Given the description of an element on the screen output the (x, y) to click on. 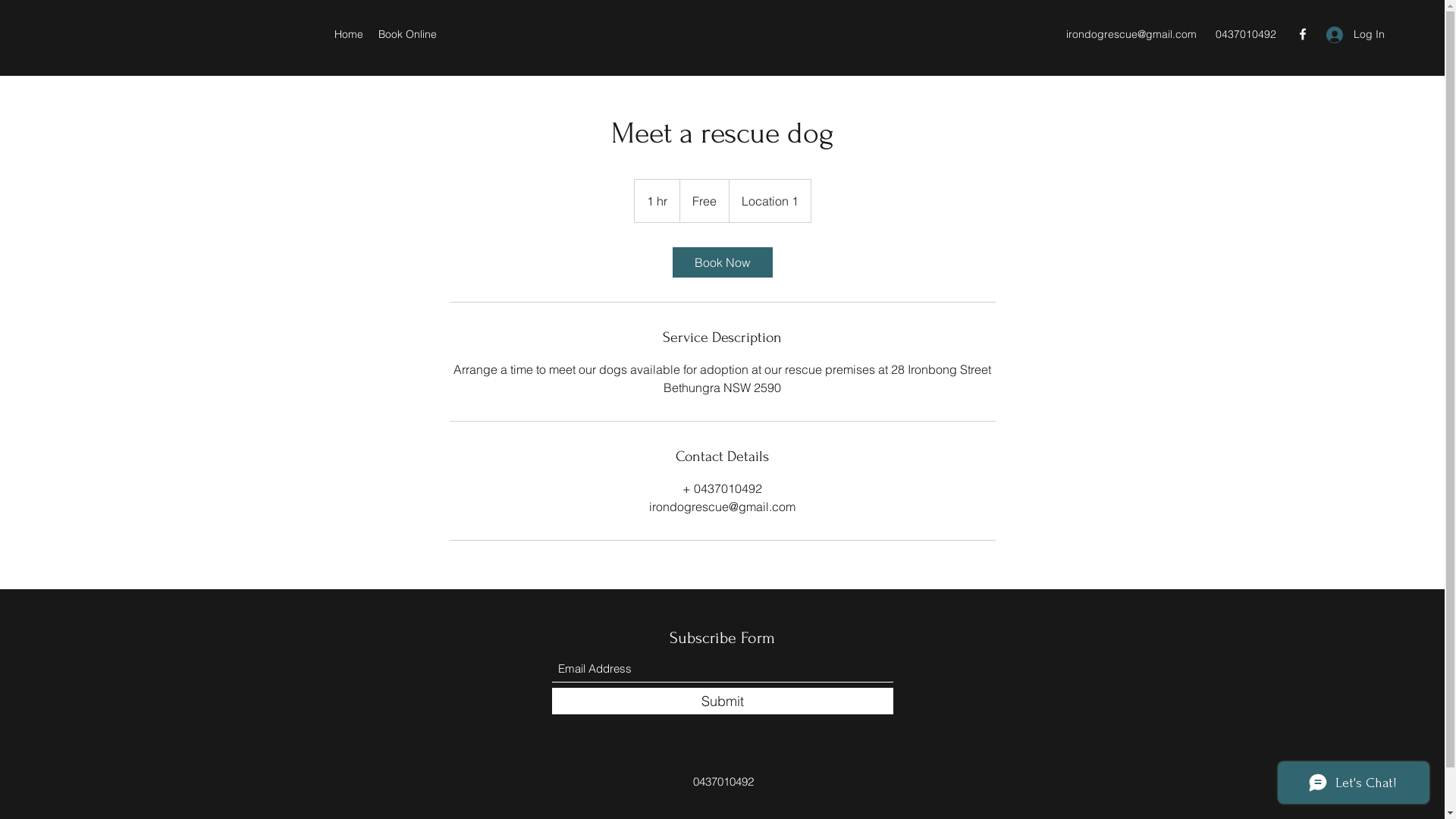
Log In Element type: text (1349, 34)
irondogrescue@gmail.com Element type: text (1131, 33)
Book Now Element type: text (721, 262)
Book Online Element type: text (407, 33)
Submit Element type: text (722, 700)
Home Element type: text (348, 33)
